Given the description of an element on the screen output the (x, y) to click on. 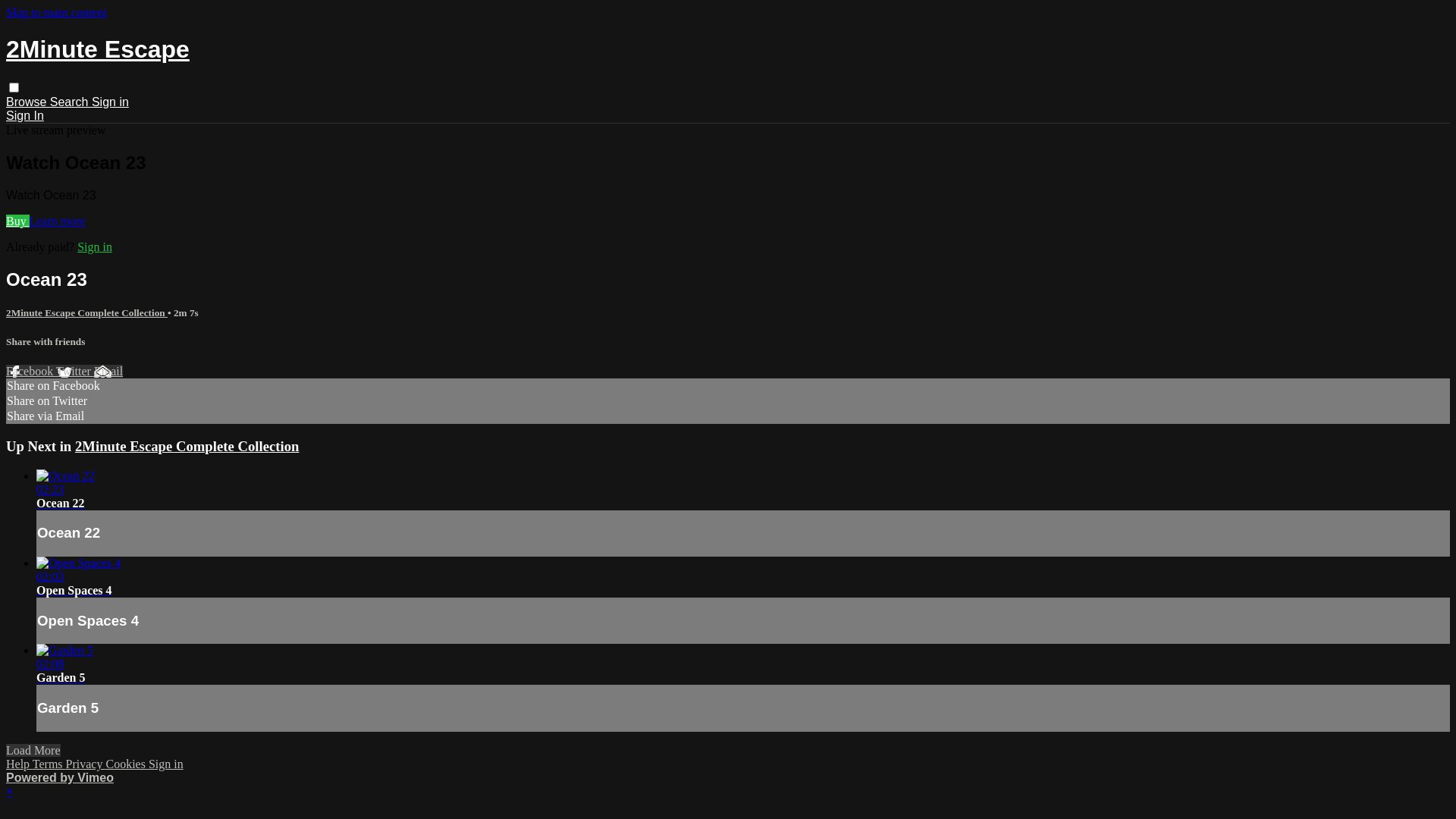
Buy Element type: text (17, 220)
02:03 Element type: text (742, 569)
Twitter Element type: text (75, 370)
02:23 Element type: text (742, 482)
Load More Element type: text (33, 749)
Privacy Element type: text (85, 763)
Ocean 22 Element type: text (60, 502)
Garden 5 Element type: text (60, 677)
Search Element type: text (70, 101)
Skip to main content Element type: text (56, 12)
Help Element type: text (19, 763)
Learn more Element type: text (57, 220)
Sign in Element type: text (109, 101)
Cookies Element type: text (126, 763)
Sign in Element type: text (94, 246)
Facebook Element type: text (31, 370)
Sign In Element type: text (24, 115)
02:08 Element type: text (742, 657)
Powered by Vimeo Element type: text (59, 777)
Browse Element type: text (28, 101)
Email Element type: text (108, 370)
Terms Element type: text (48, 763)
2Minute Escape Element type: text (97, 48)
Sign in Element type: text (165, 763)
Open Spaces 4 Element type: text (74, 589)
2Minute Escape Complete Collection Element type: text (86, 312)
2Minute Escape Complete Collection Element type: text (187, 446)
